Given the description of an element on the screen output the (x, y) to click on. 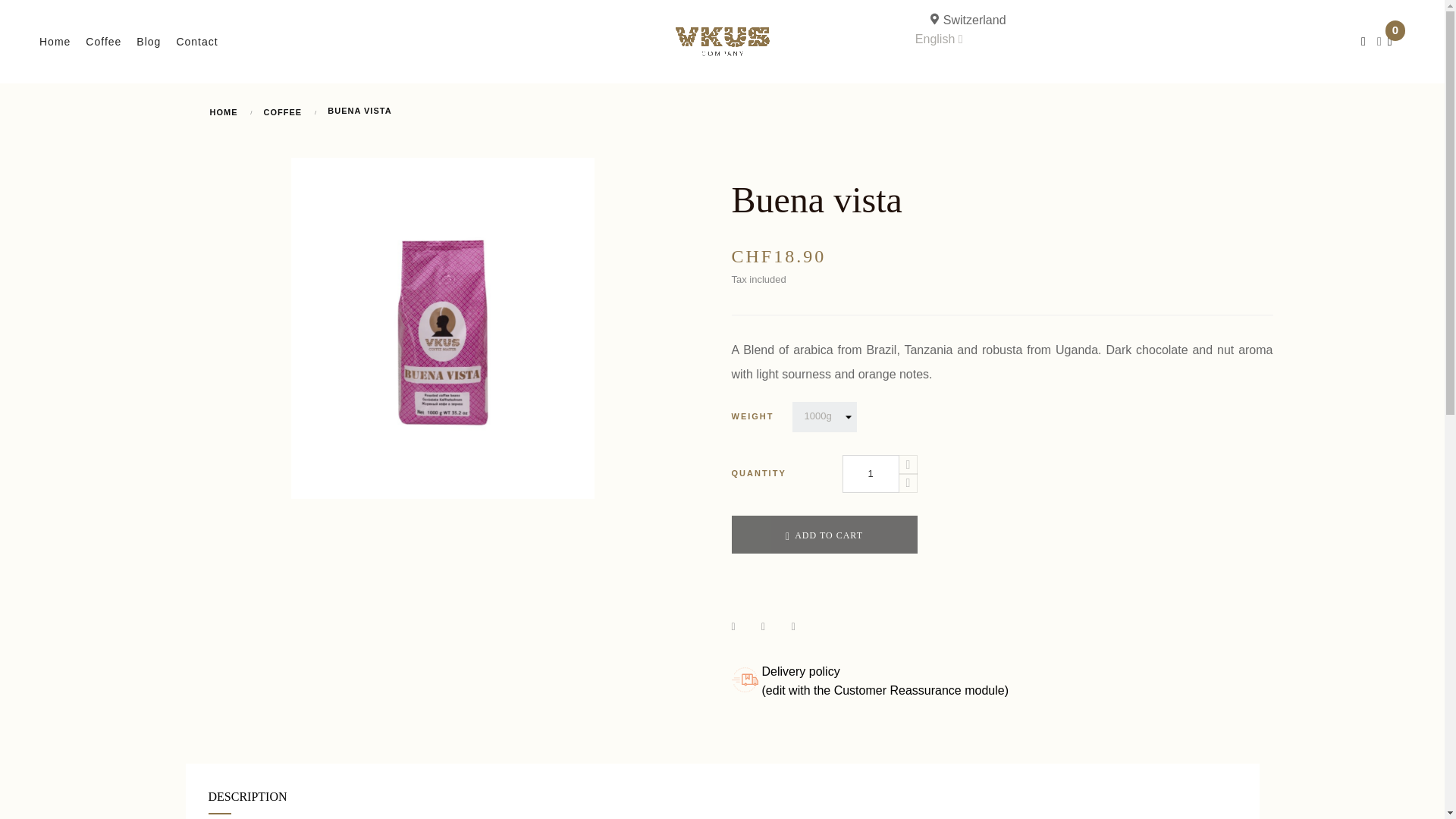
Coffee (102, 41)
Home (54, 41)
English (938, 39)
Switzerland (1142, 20)
Language (938, 39)
Blog (148, 41)
Contact (196, 41)
1 (869, 474)
